Given the description of an element on the screen output the (x, y) to click on. 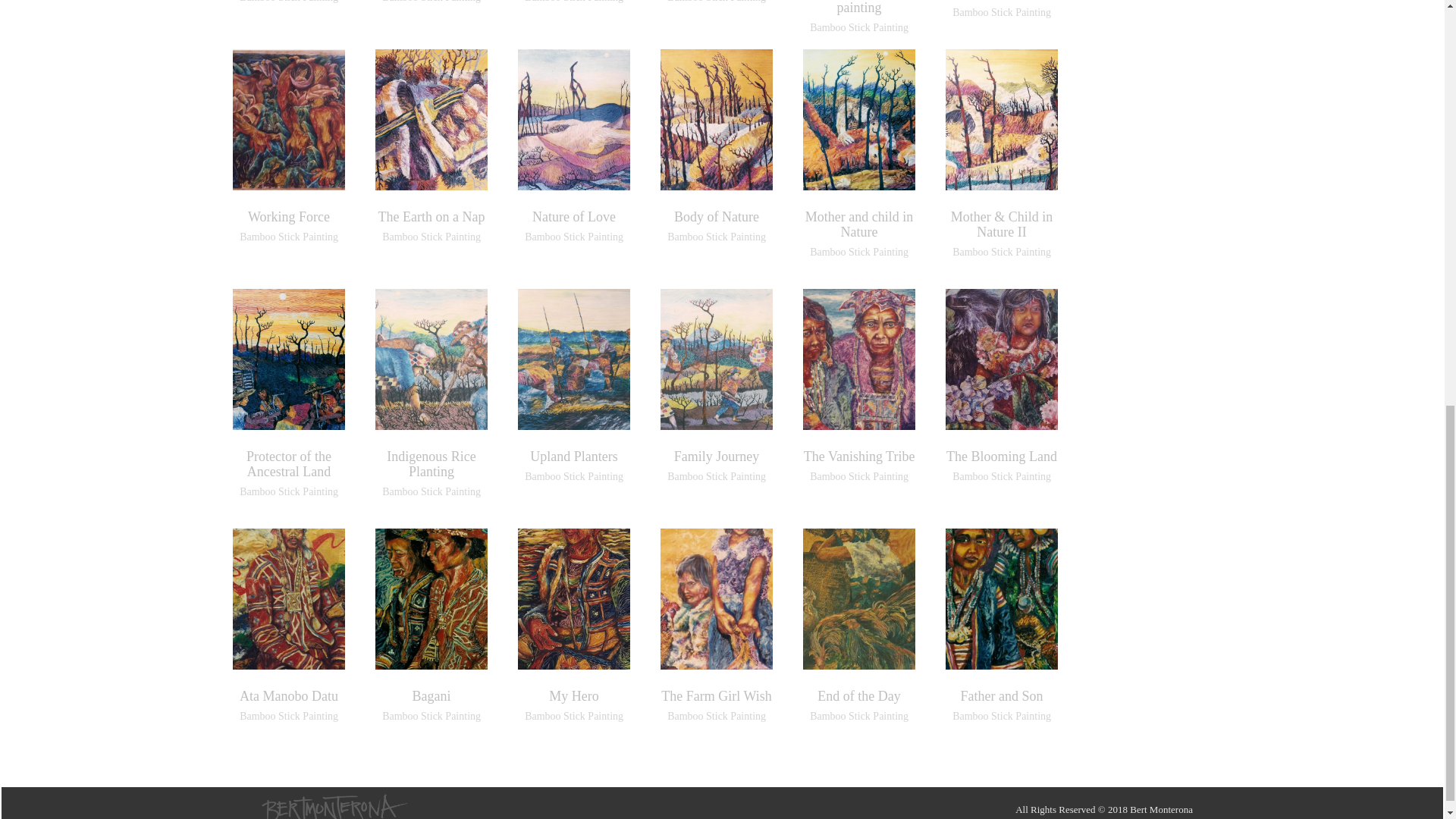
Working Force (288, 216)
Love in Paradise, Bamboo stick painting (857, 7)
Nature of Love (573, 216)
The Earth on a Nap (431, 216)
